Given the description of an element on the screen output the (x, y) to click on. 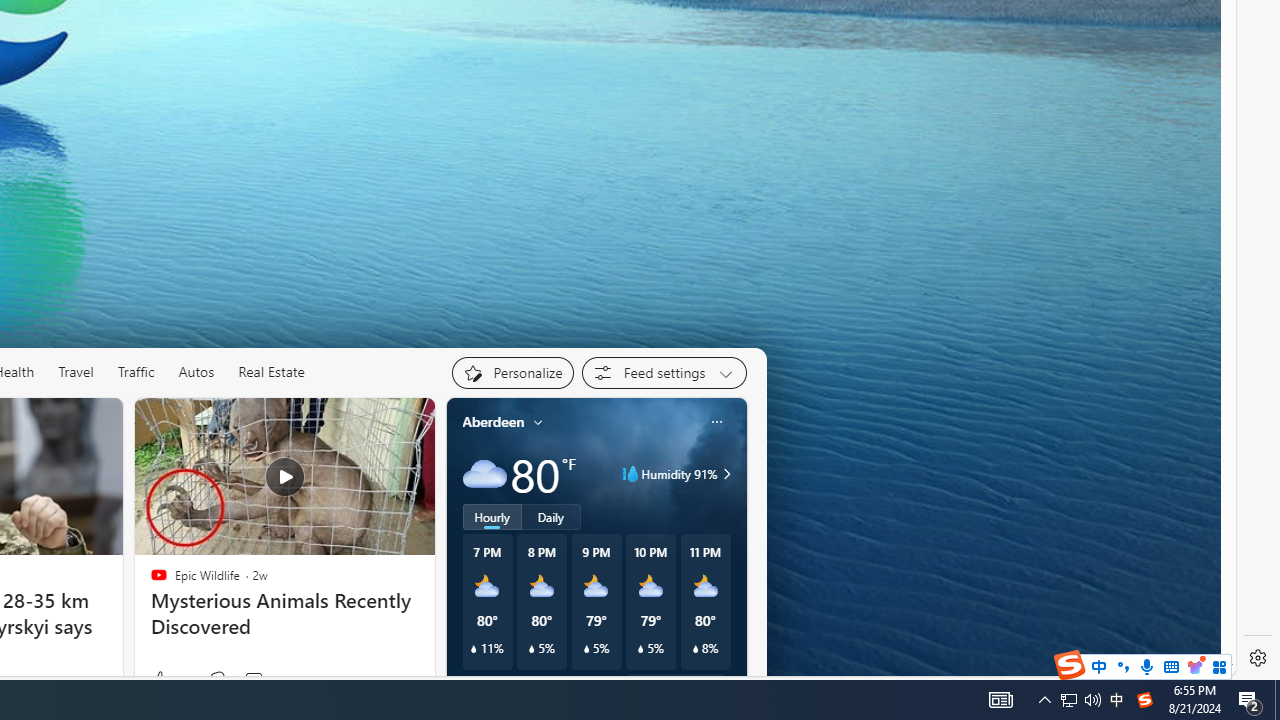
Humidity 91% (723, 474)
Aberdeen (493, 422)
Traffic (135, 372)
See full forecast (674, 685)
373 Like (169, 680)
Autos (196, 372)
Class: weather-arrow-glyph (726, 474)
My location (538, 421)
Real Estate (271, 371)
Daily (550, 516)
